Given the description of an element on the screen output the (x, y) to click on. 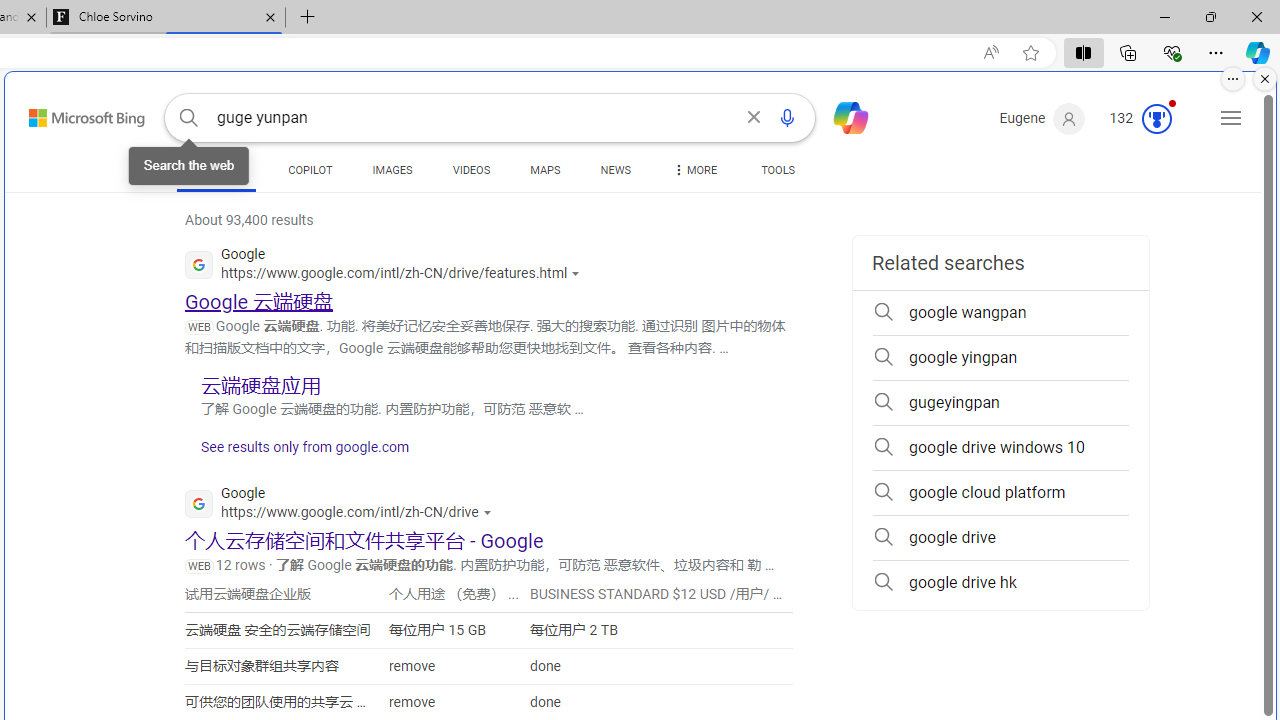
google drive hk (1000, 582)
COPILOT (310, 173)
SEARCH (216, 170)
Global web icon (198, 503)
MAPS (545, 173)
Search using voice (787, 117)
More options. (1233, 79)
Actions for this site (489, 512)
VIDEOS (471, 170)
COPILOT (310, 170)
google drive (1000, 538)
VIDEOS (471, 173)
